Given the description of an element on the screen output the (x, y) to click on. 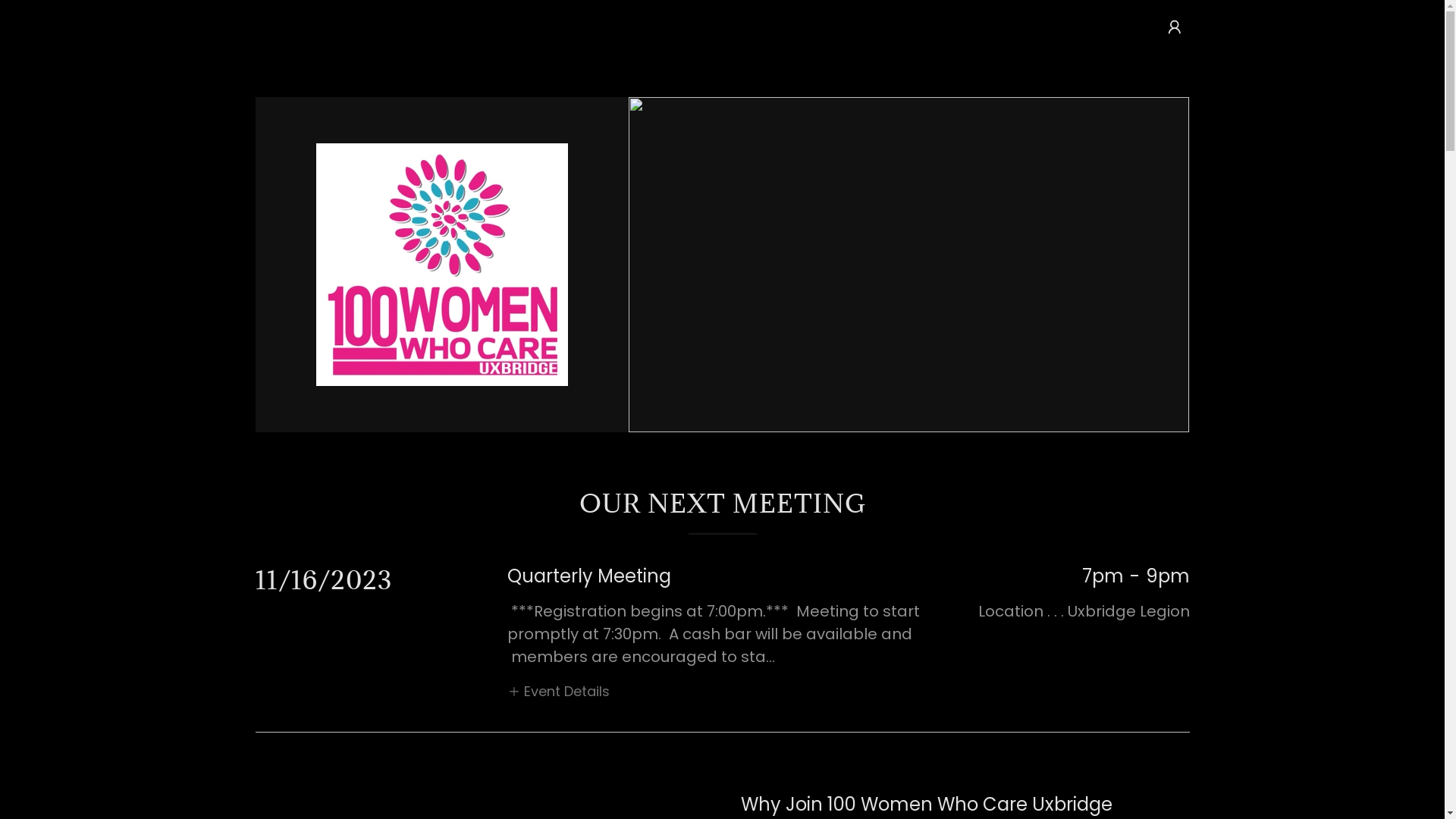
100 Women Uxbridge Element type: hover (441, 263)
